Given the description of an element on the screen output the (x, y) to click on. 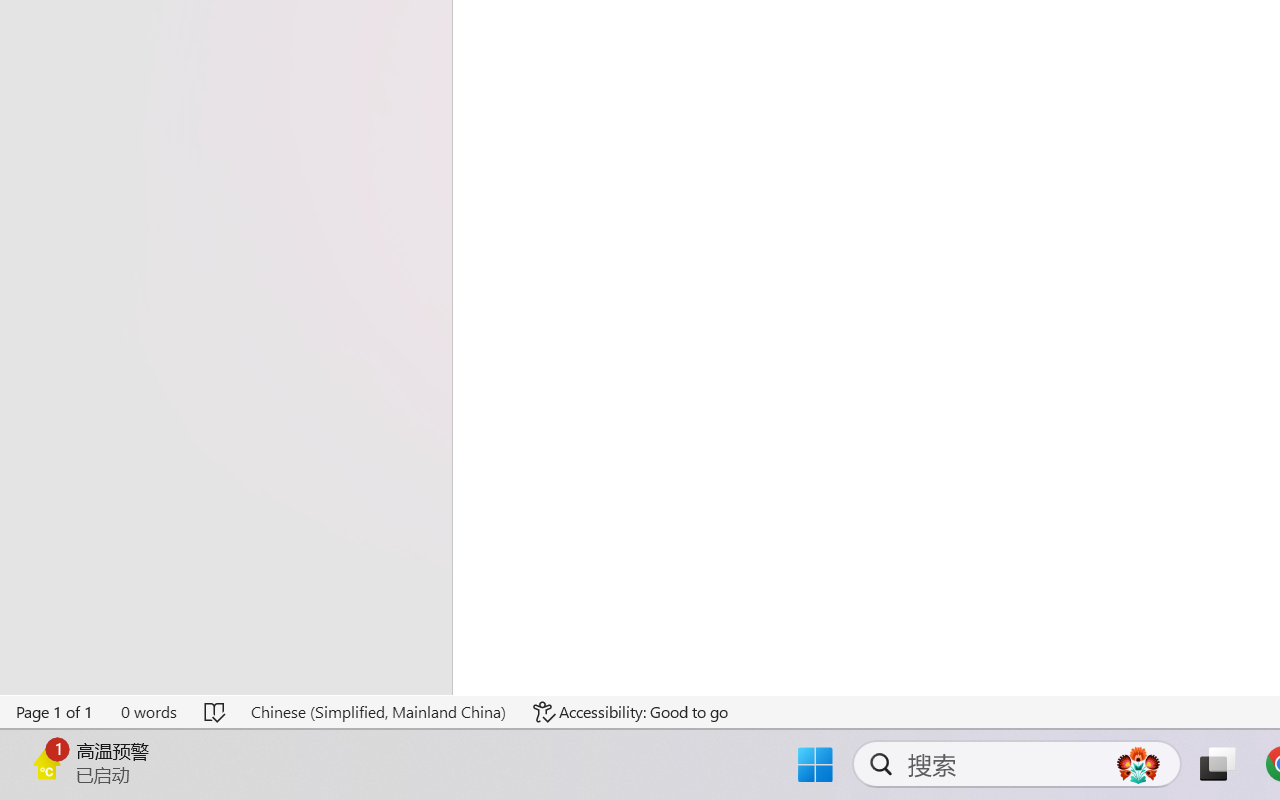
Language Chinese (Simplified, Mainland China) (378, 712)
